Given the description of an element on the screen output the (x, y) to click on. 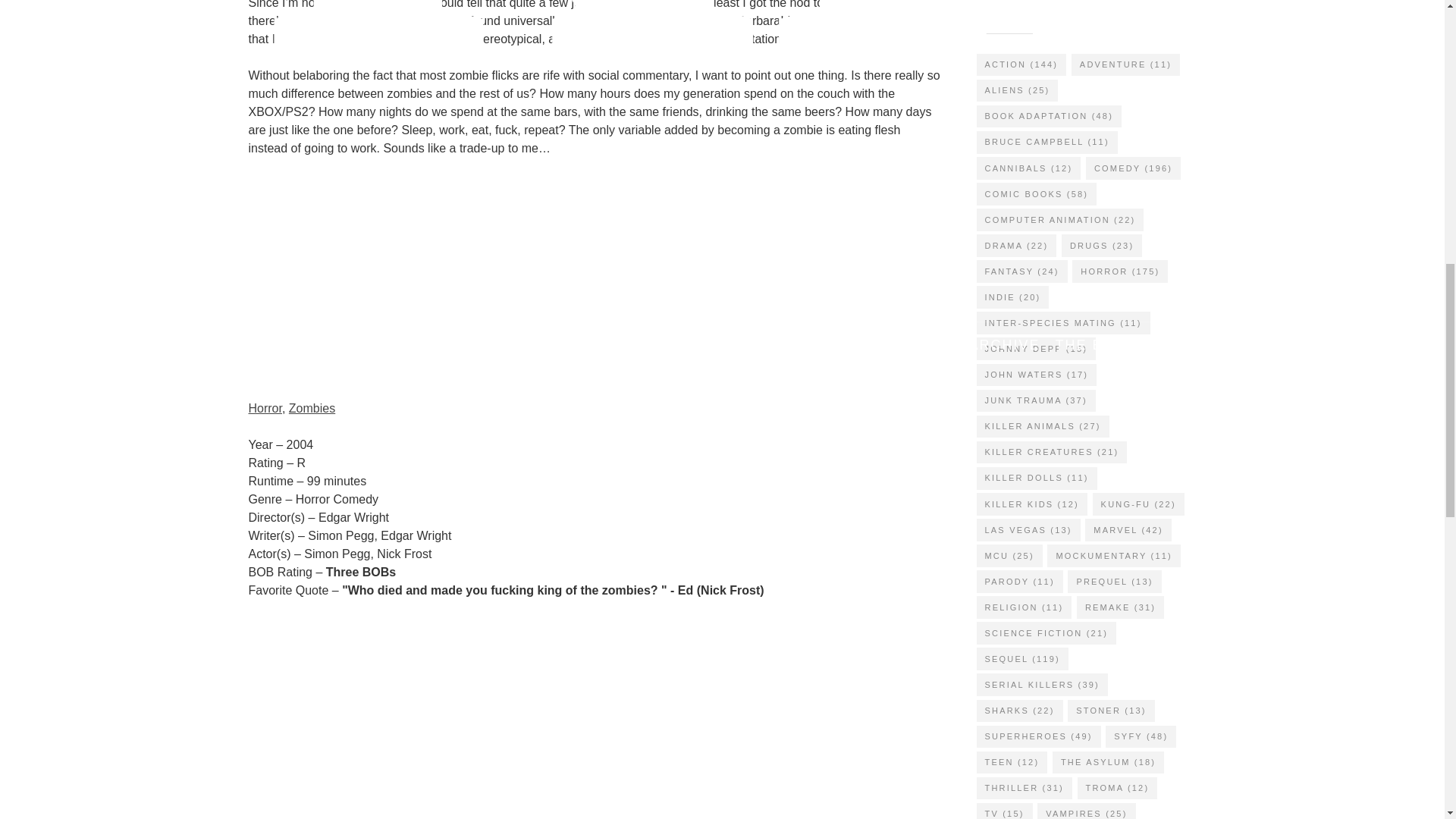
REVIEW ARCHIVE (970, 345)
THE BOB SYSTEM (1124, 345)
Zombies (311, 408)
MOVIE WATCHING CALENDAR (516, 345)
HOME (361, 345)
Horror (265, 408)
DAILY PROPAGANDA ARCHIVE (767, 345)
